Given the description of an element on the screen output the (x, y) to click on. 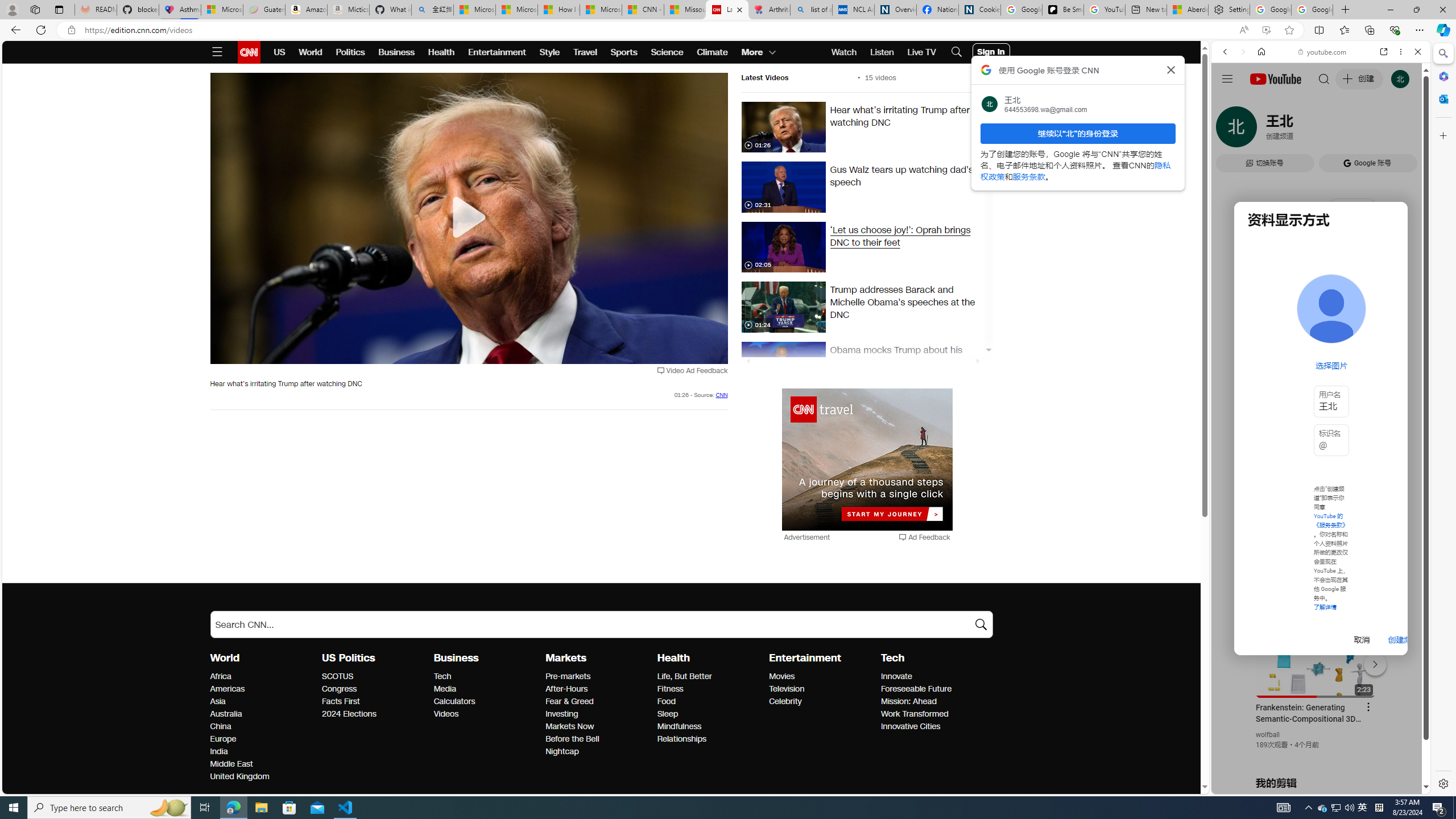
Markets Before the Bell (572, 738)
Mindfulness (709, 726)
Class: icon-sig-video (748, 325)
Health Fitness (670, 688)
you (1315, 755)
